Given the description of an element on the screen output the (x, y) to click on. 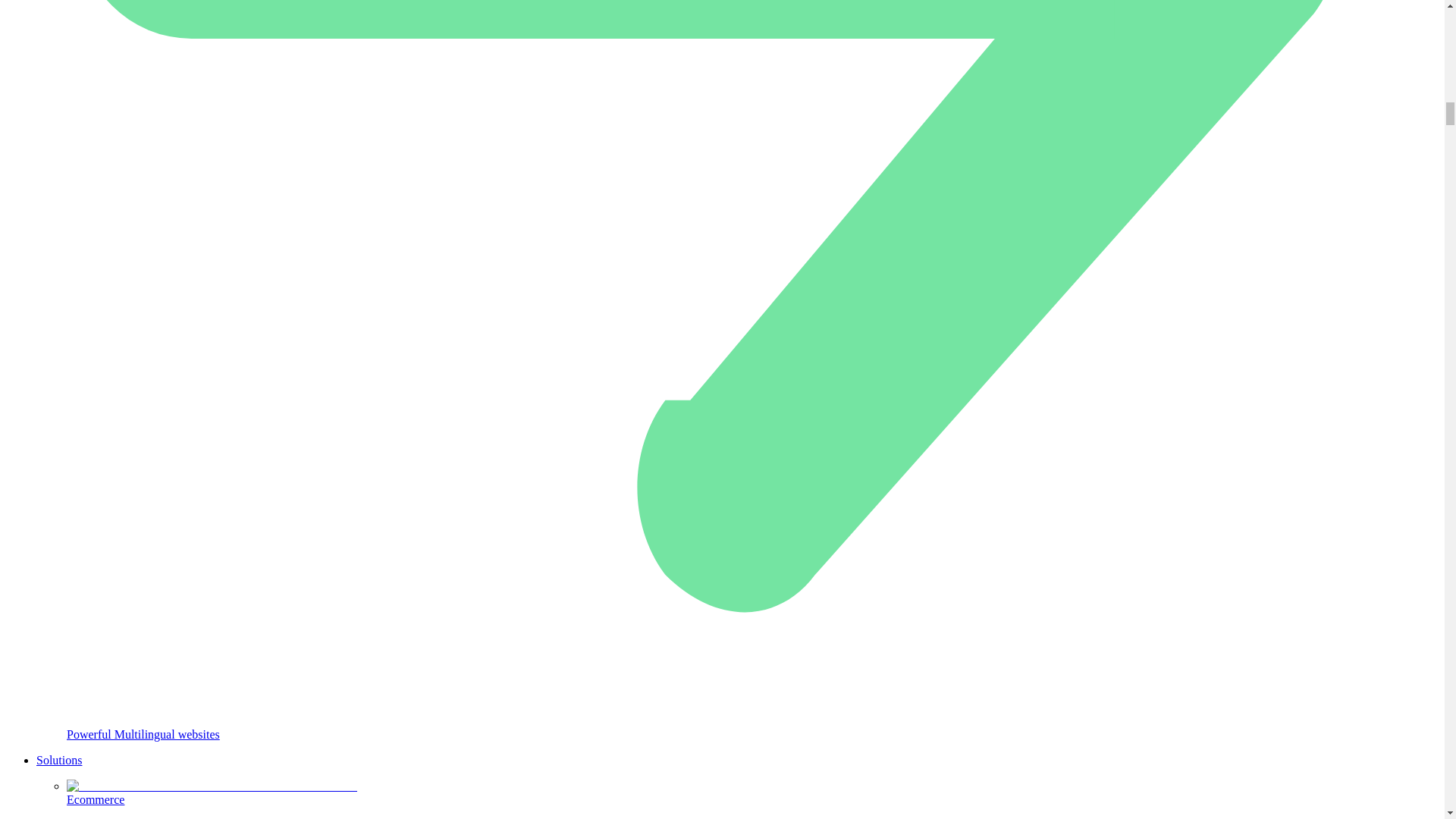
Solutions (58, 759)
